Given the description of an element on the screen output the (x, y) to click on. 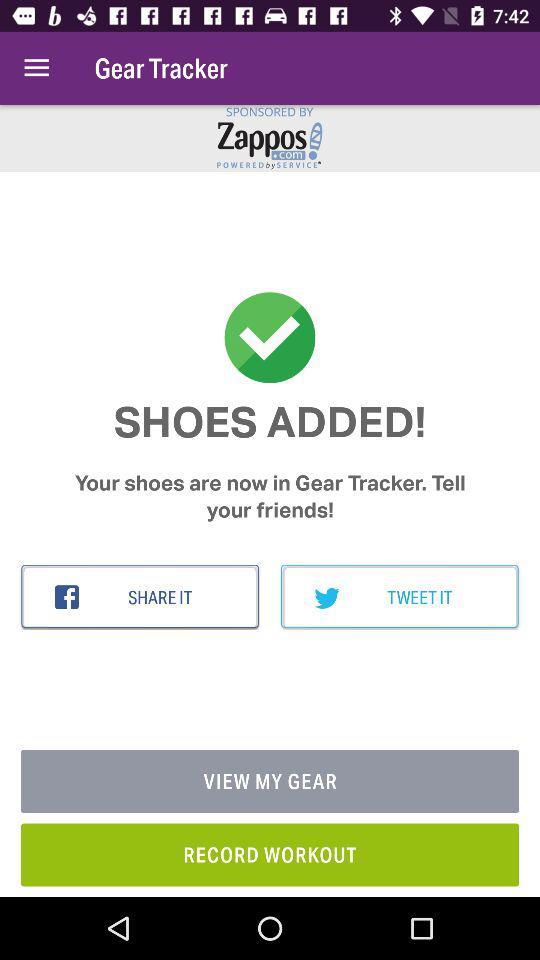
press record workout icon (270, 854)
